Given the description of an element on the screen output the (x, y) to click on. 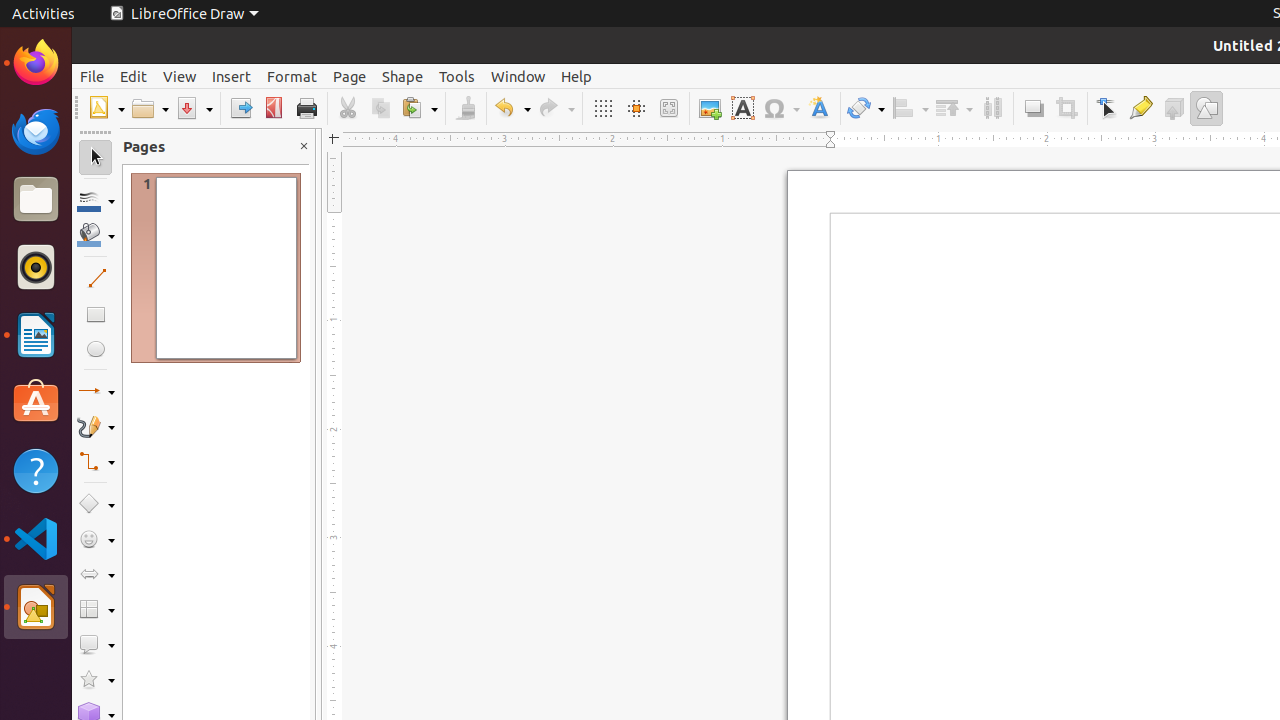
Line Element type: push-button (95, 278)
Curves and Polygons Element type: push-button (96, 426)
Help Element type: push-button (36, 470)
Connectors Element type: push-button (96, 461)
Text Box Element type: push-button (742, 108)
